Given the description of an element on the screen output the (x, y) to click on. 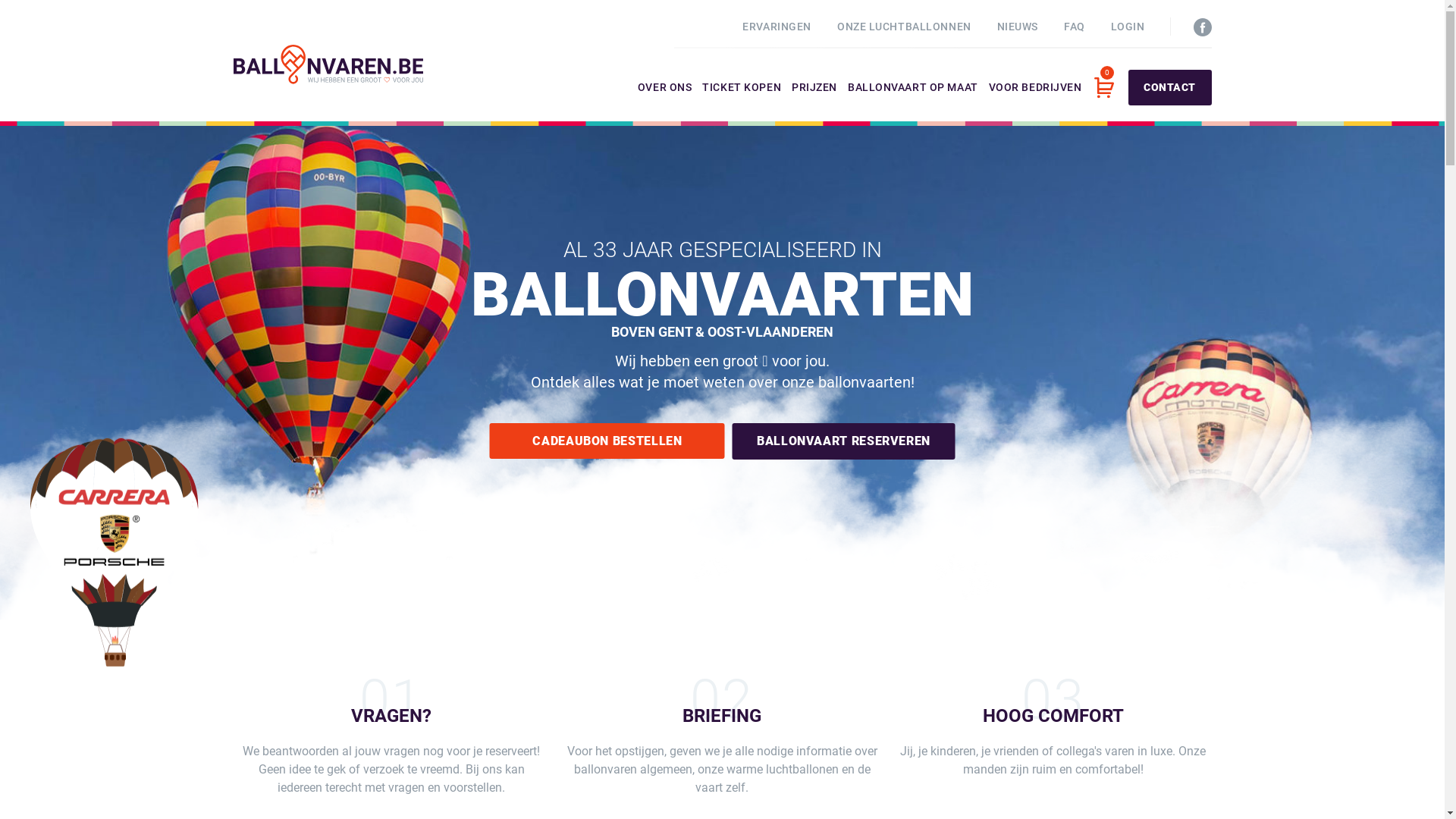
CONTACT Element type: text (1169, 87)
FAQ Element type: text (1074, 26)
NIEUWS Element type: text (1017, 26)
ONZE LUCHTBALLONNEN Element type: text (904, 26)
BALLONVAART RESERVEREN Element type: text (843, 441)
TICKET KOPEN Element type: text (741, 101)
0 Element type: text (1103, 87)
CADEAUBON BESTELLEN Element type: text (606, 440)
LOGIN Element type: text (1127, 26)
OVER ONS Element type: text (664, 101)
PRIJZEN Element type: text (814, 101)
VOOR BEDRIJVEN Element type: text (1035, 101)
logo Element type: hover (328, 64)
BALLONVAART OP MAAT Element type: text (912, 101)
ERVARINGEN Element type: text (776, 26)
